Given the description of an element on the screen output the (x, y) to click on. 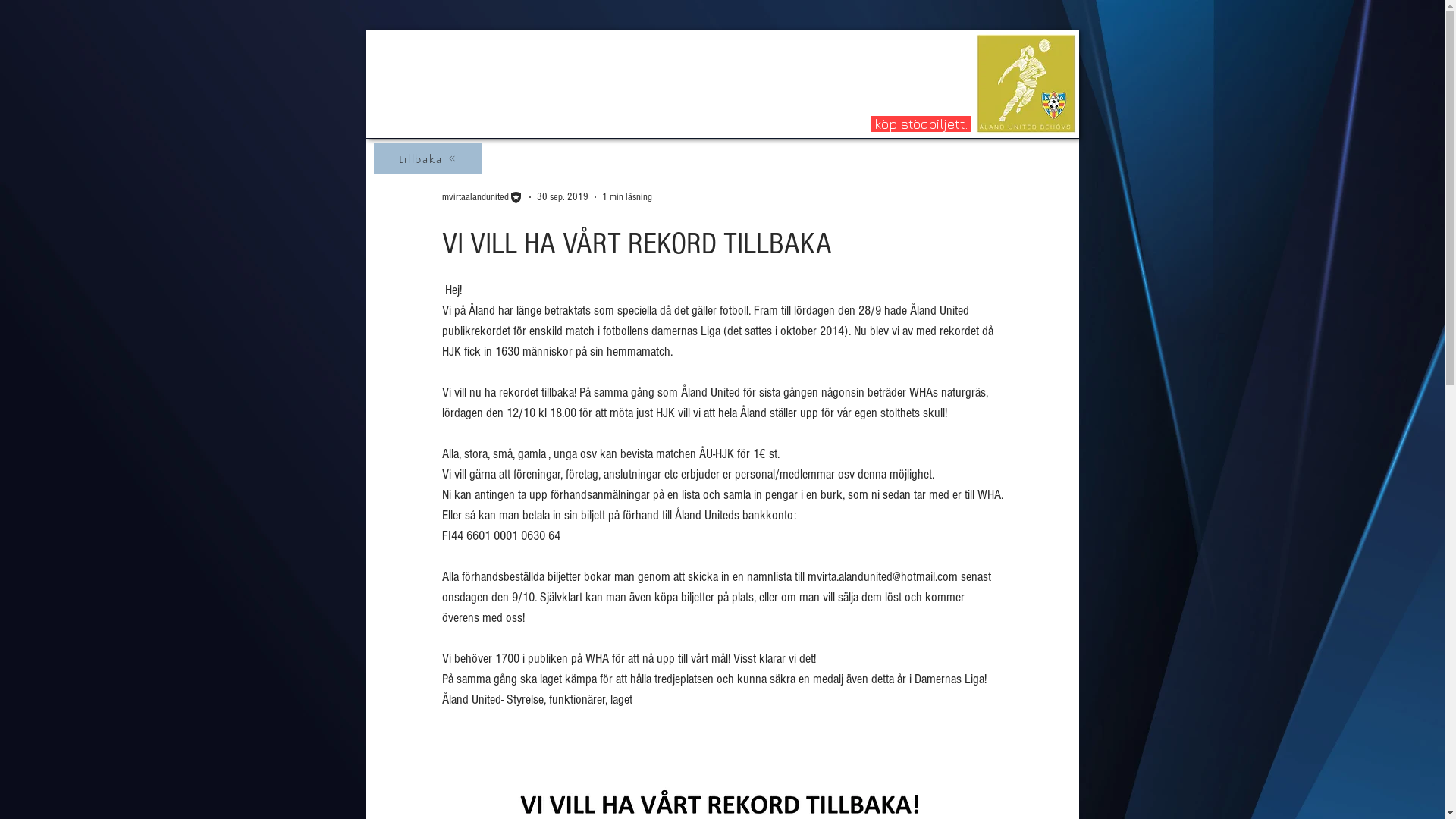
tillbaka Element type: text (426, 158)
mvirtaalandunited Element type: text (481, 197)
